Given the description of an element on the screen output the (x, y) to click on. 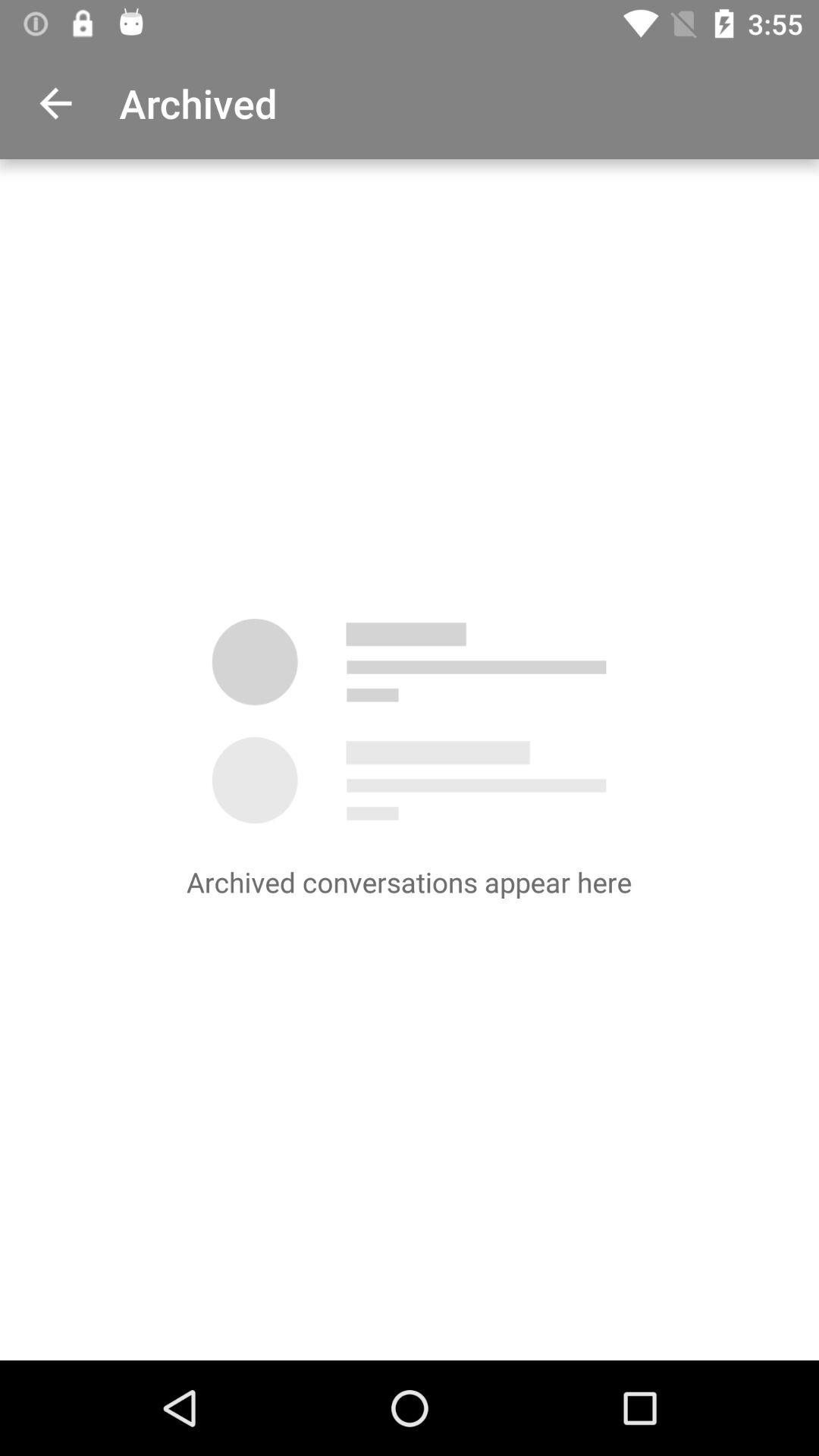
click item to the left of archived (55, 103)
